Given the description of an element on the screen output the (x, y) to click on. 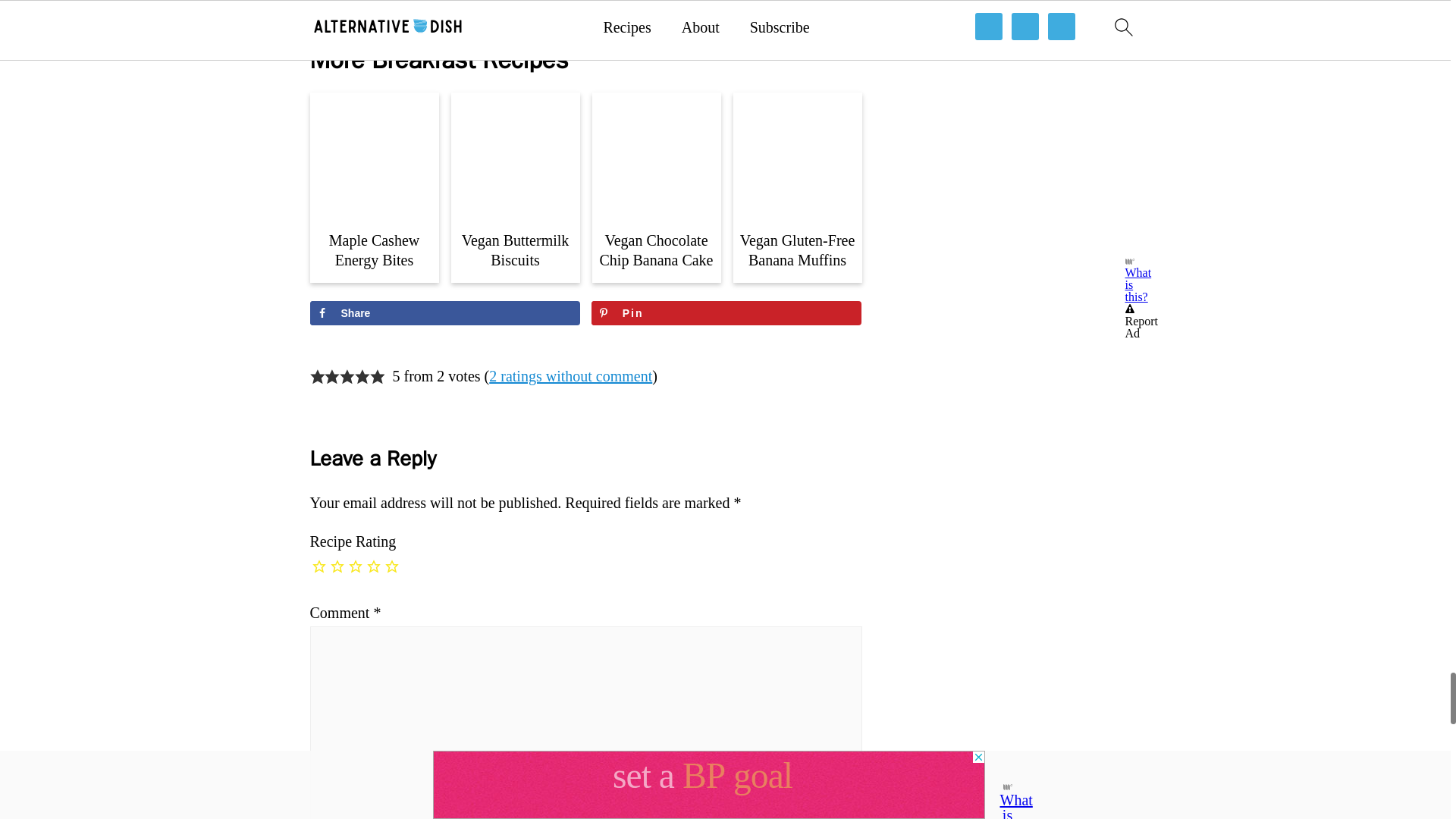
Save to Pinterest (726, 313)
Share on Facebook (443, 313)
